Given the description of an element on the screen output the (x, y) to click on. 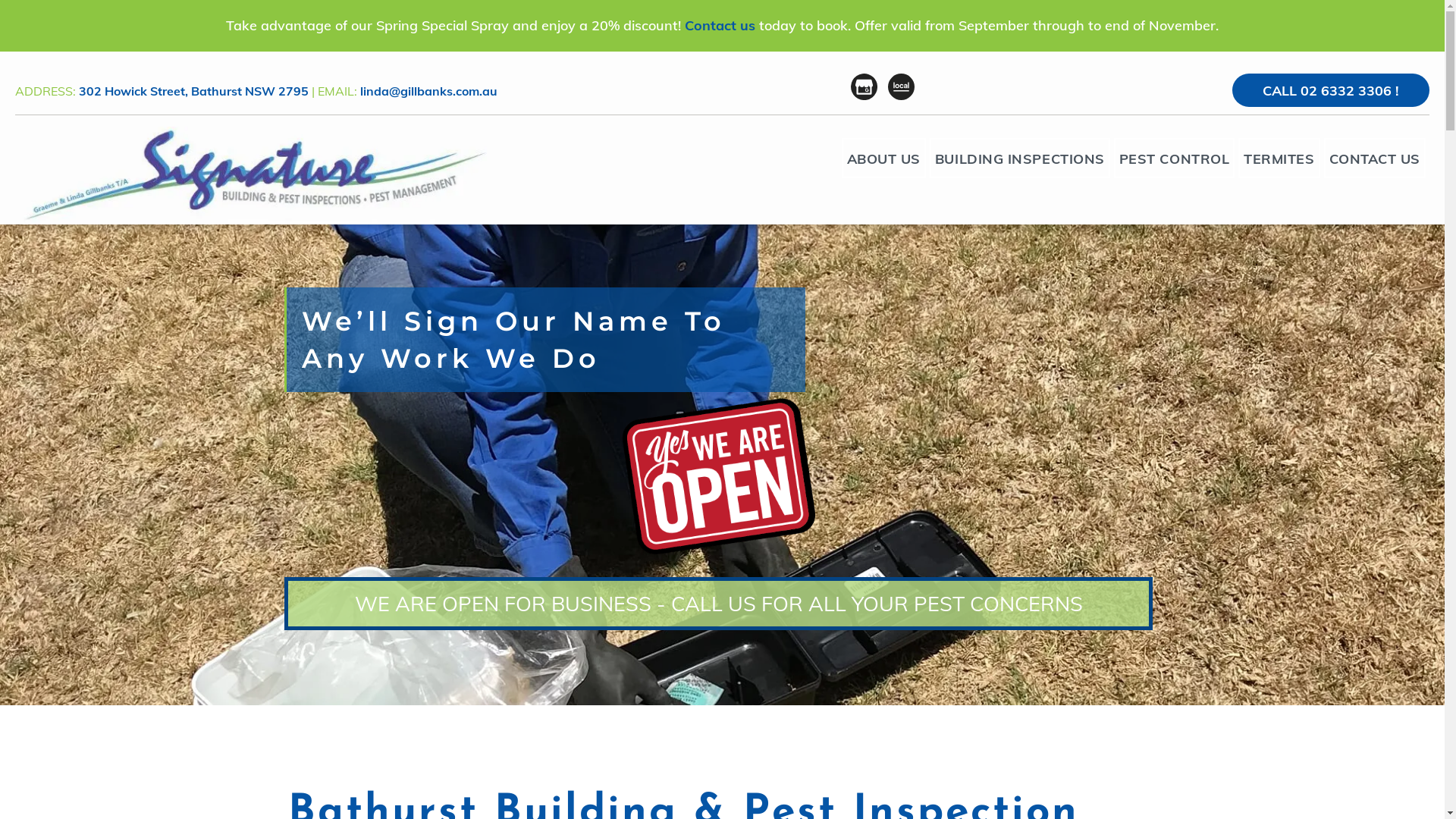
yes, we are open Element type: hover (718, 476)
CALL 02 6332 3306 ! Element type: text (1330, 89)
TERMITES Element type: text (1278, 158)
PEST CONTROL Element type: text (1173, 158)
linda@gillbanks.com.au Element type: text (428, 90)
ABOUT US Element type: text (883, 158)
Contact us Element type: text (719, 25)
302 Howick Street, Bathurst NSW 2795 Element type: text (193, 90)
Pest Control Bathurst Element type: hover (250, 174)
CONTACT US Element type: text (1374, 158)
BUILDING INSPECTIONS Element type: text (1019, 158)
